Given the description of an element on the screen output the (x, y) to click on. 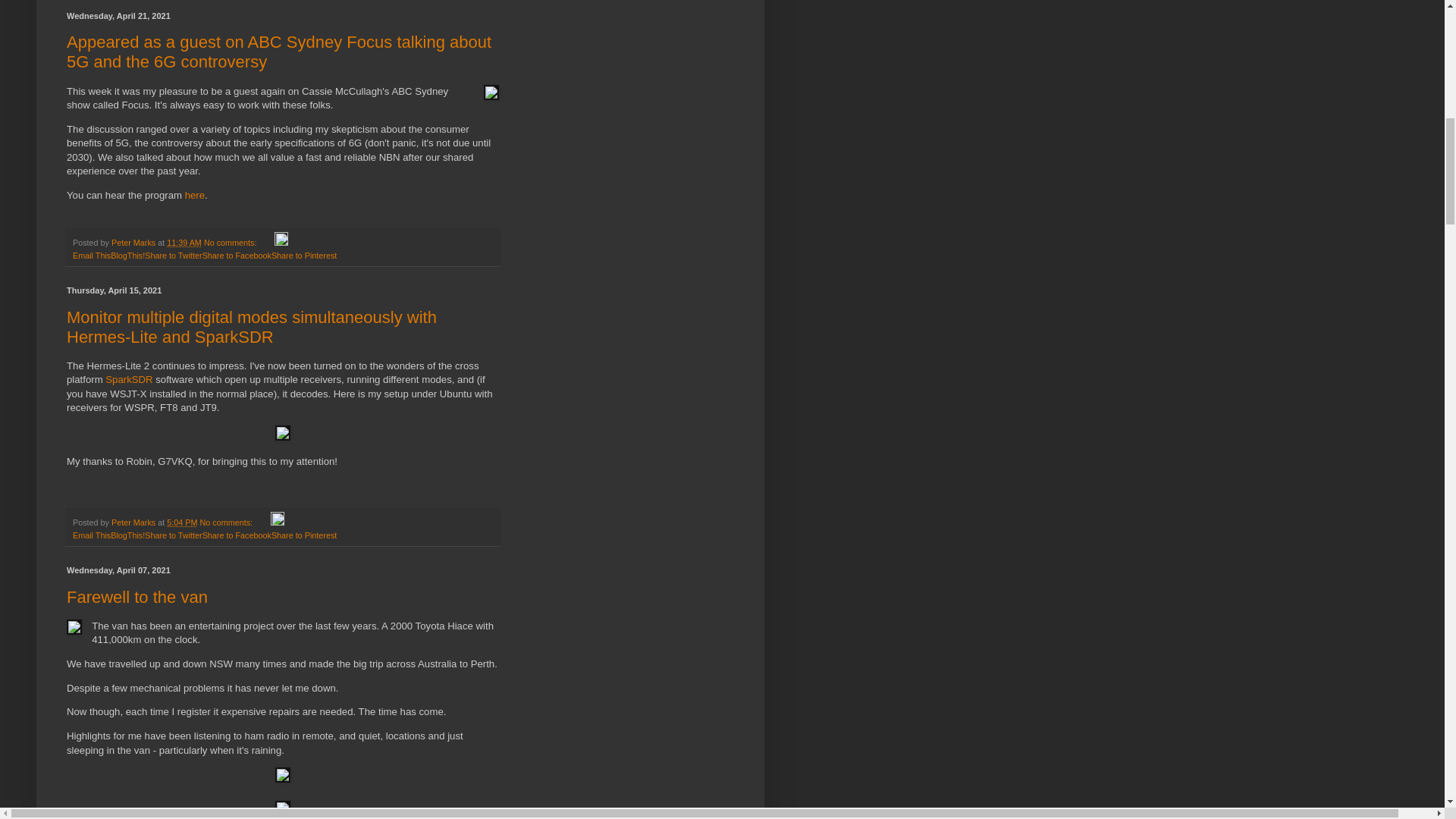
Share to Pinterest (303, 255)
Peter Marks (134, 522)
permanent link (184, 242)
Email Post (267, 242)
Email This (91, 534)
BlogThis! (127, 255)
No comments: (231, 242)
5:04 PM (181, 522)
Edit Post (281, 242)
Peter Marks (134, 242)
Email This (91, 255)
BlogThis! (127, 255)
author profile (134, 242)
SparkSDR (128, 378)
Share to Facebook (236, 255)
